Given the description of an element on the screen output the (x, y) to click on. 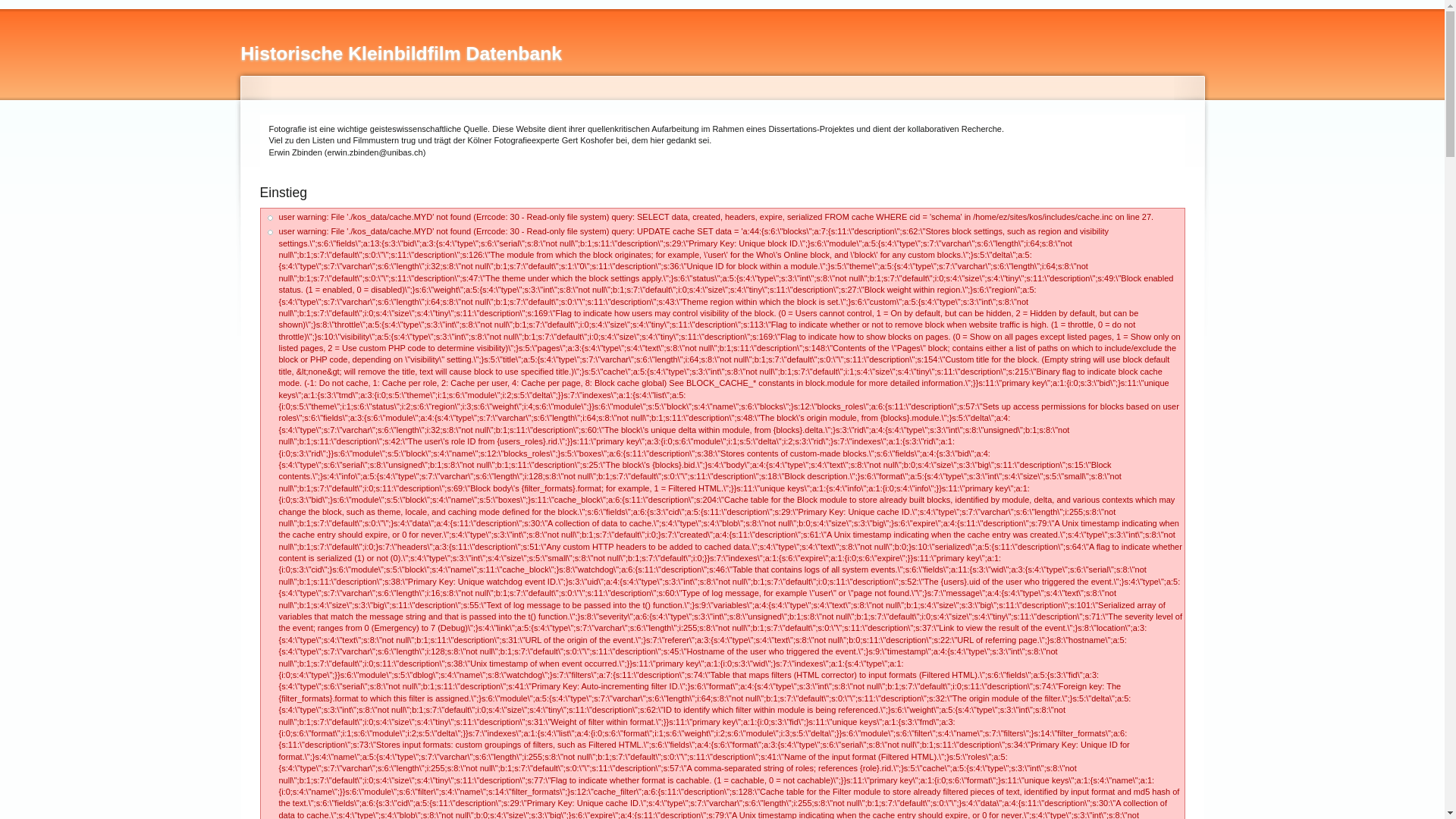
Historische Kleinbildfilm Datenbank Element type: text (401, 53)
